Given the description of an element on the screen output the (x, y) to click on. 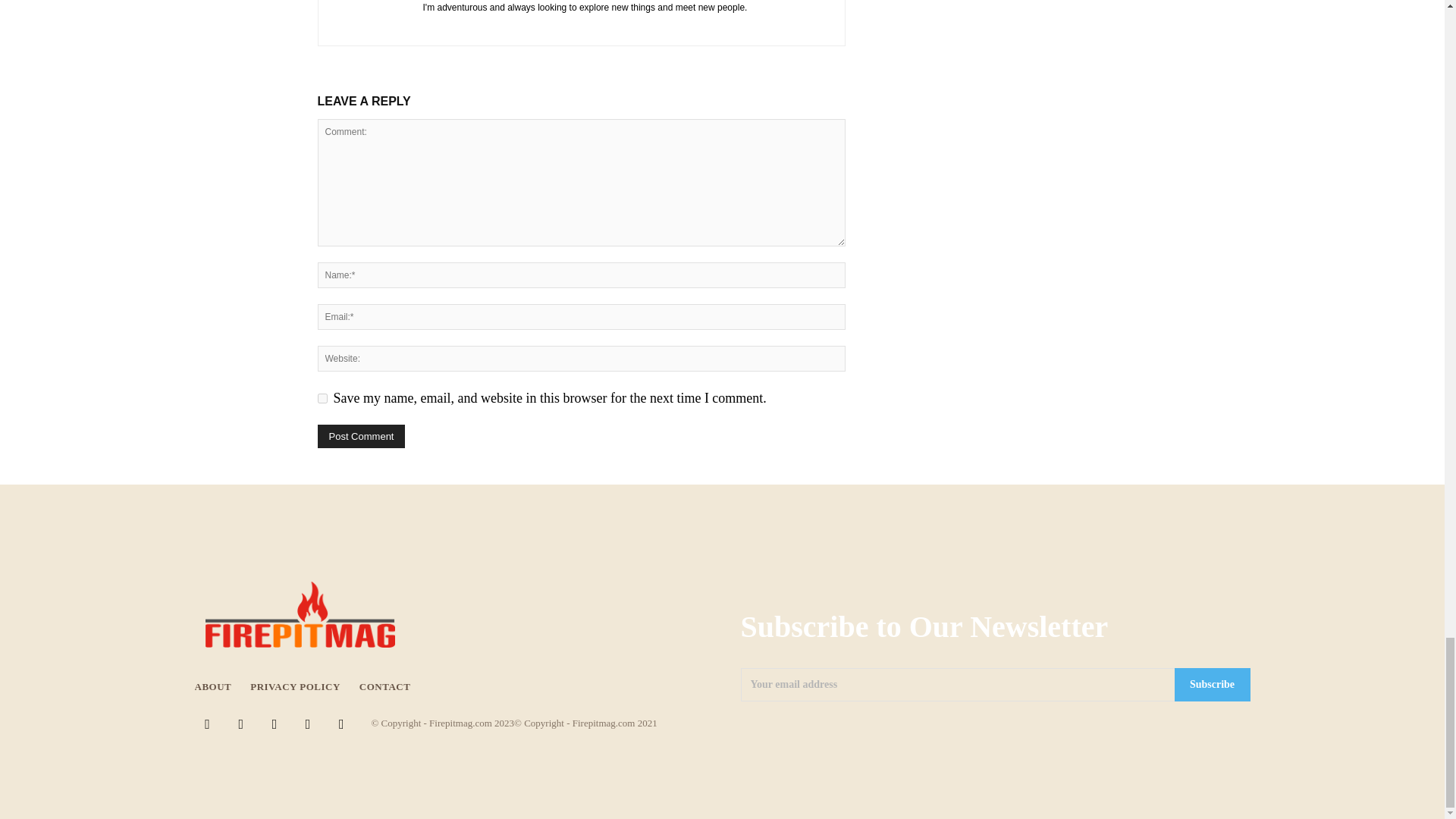
yes (321, 398)
Post Comment (360, 436)
Post Comment (360, 436)
